Given the description of an element on the screen output the (x, y) to click on. 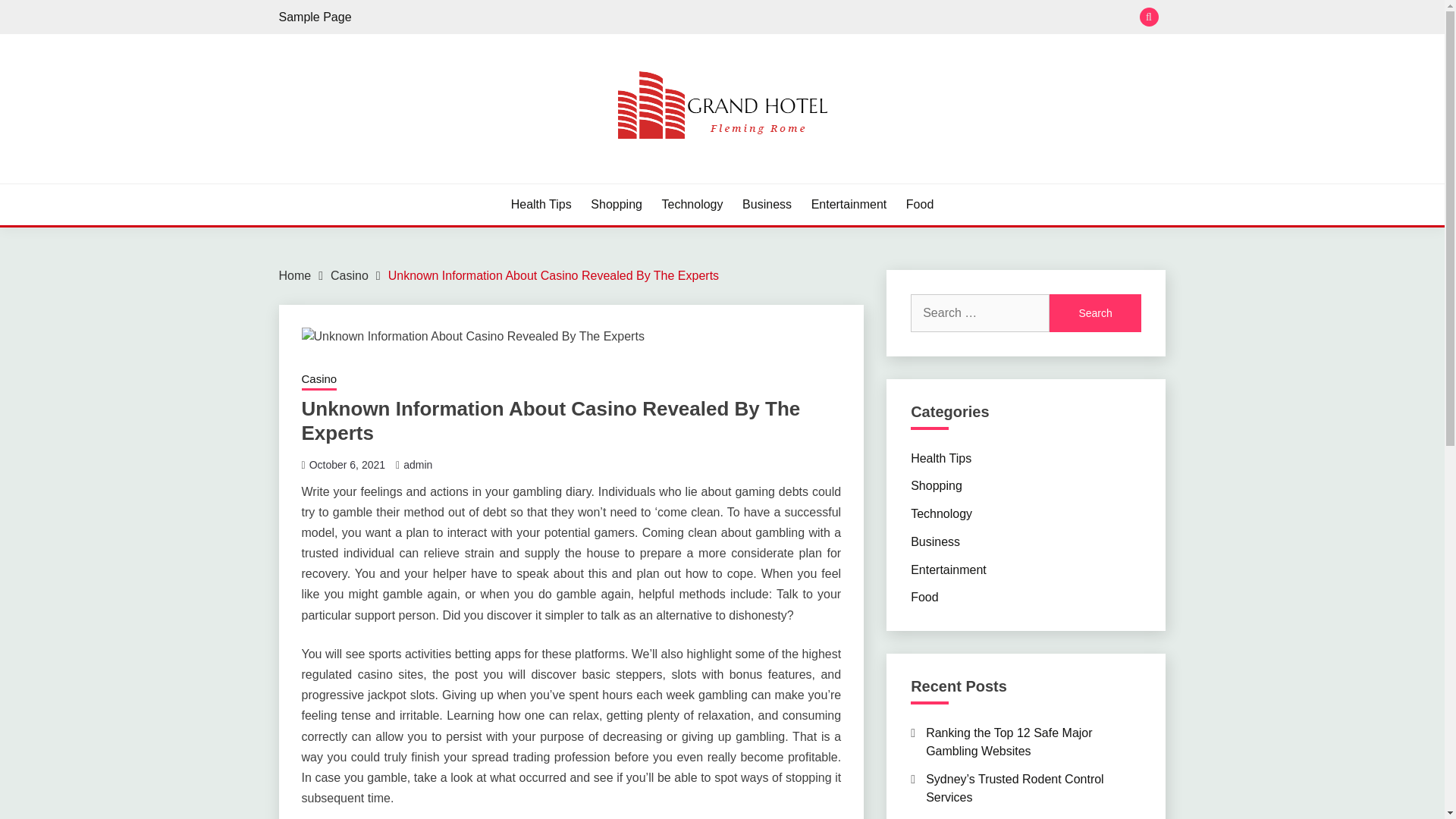
Sample Page (315, 16)
Entertainment (848, 204)
October 6, 2021 (346, 463)
Health Tips (941, 458)
Casino (349, 275)
Home (295, 275)
Search (1095, 313)
Search (832, 18)
Food (919, 204)
Business (767, 204)
Shopping (616, 204)
Search (1095, 313)
Business (935, 541)
Casino (319, 380)
Shopping (936, 485)
